Given the description of an element on the screen output the (x, y) to click on. 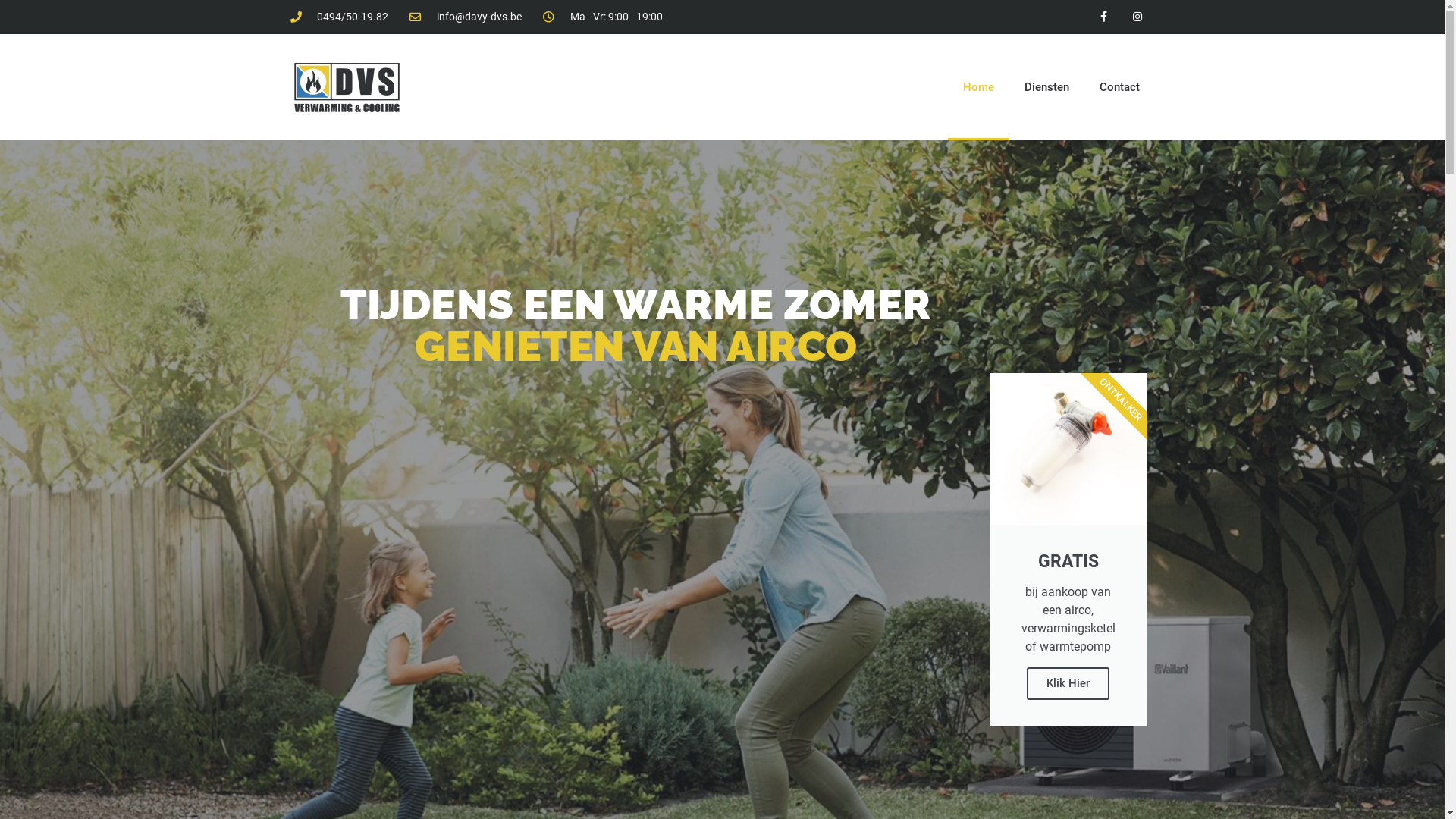
Home Element type: text (978, 87)
Contact Element type: text (1119, 87)
Klik Hier Element type: text (1067, 683)
Diensten Element type: text (1045, 87)
